Given the description of an element on the screen output the (x, y) to click on. 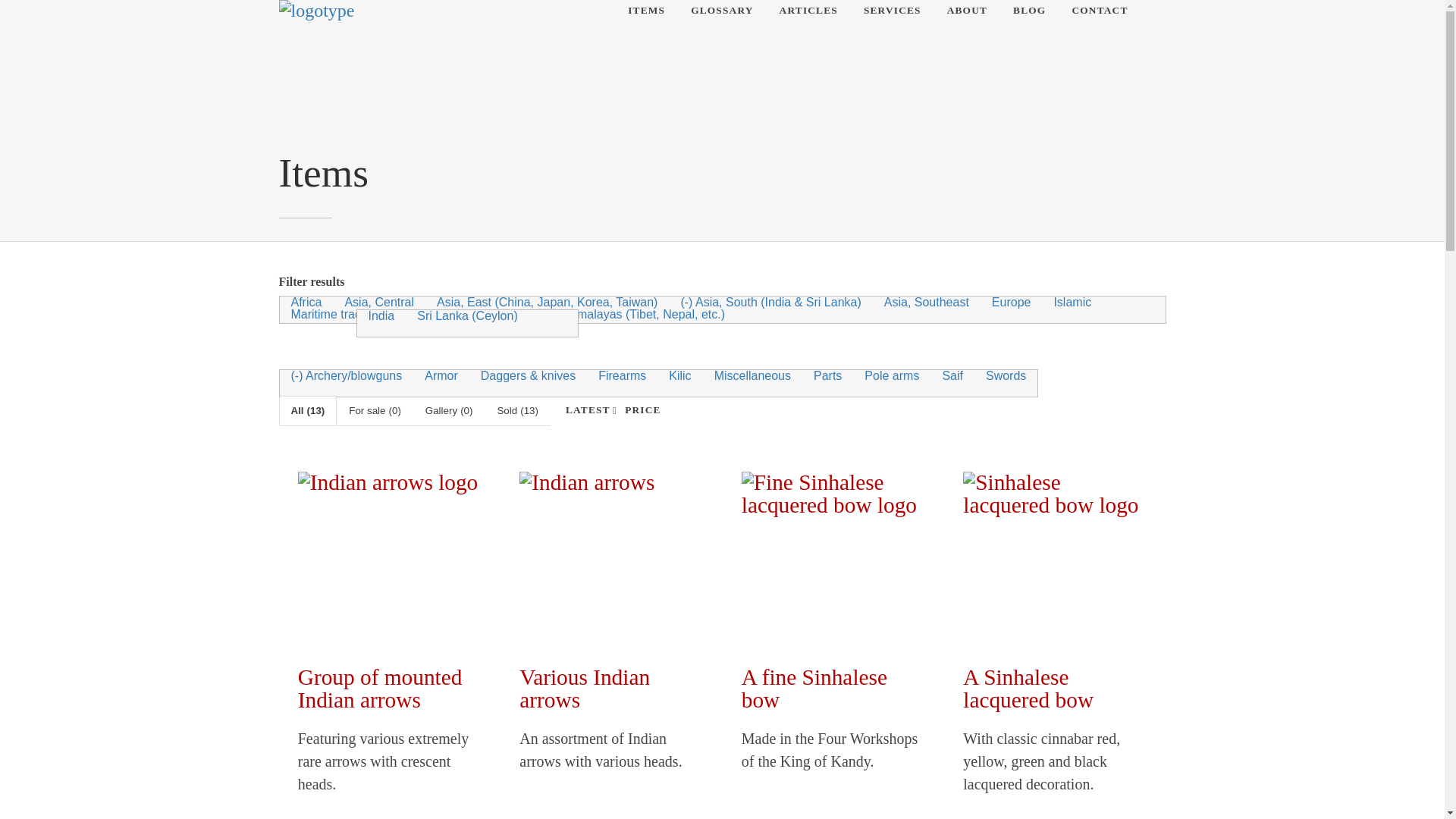
PRICE (642, 409)
Oceania (495, 314)
ITEMS (646, 10)
BLOG (1029, 10)
CONTACT (1098, 10)
Africa (306, 301)
Armor (441, 375)
Kilic (679, 375)
Parts (827, 375)
Miscellaneous (752, 375)
SERVICES (892, 10)
Europe (1010, 301)
Search (29, 12)
ABOUT (967, 10)
